Given the description of an element on the screen output the (x, y) to click on. 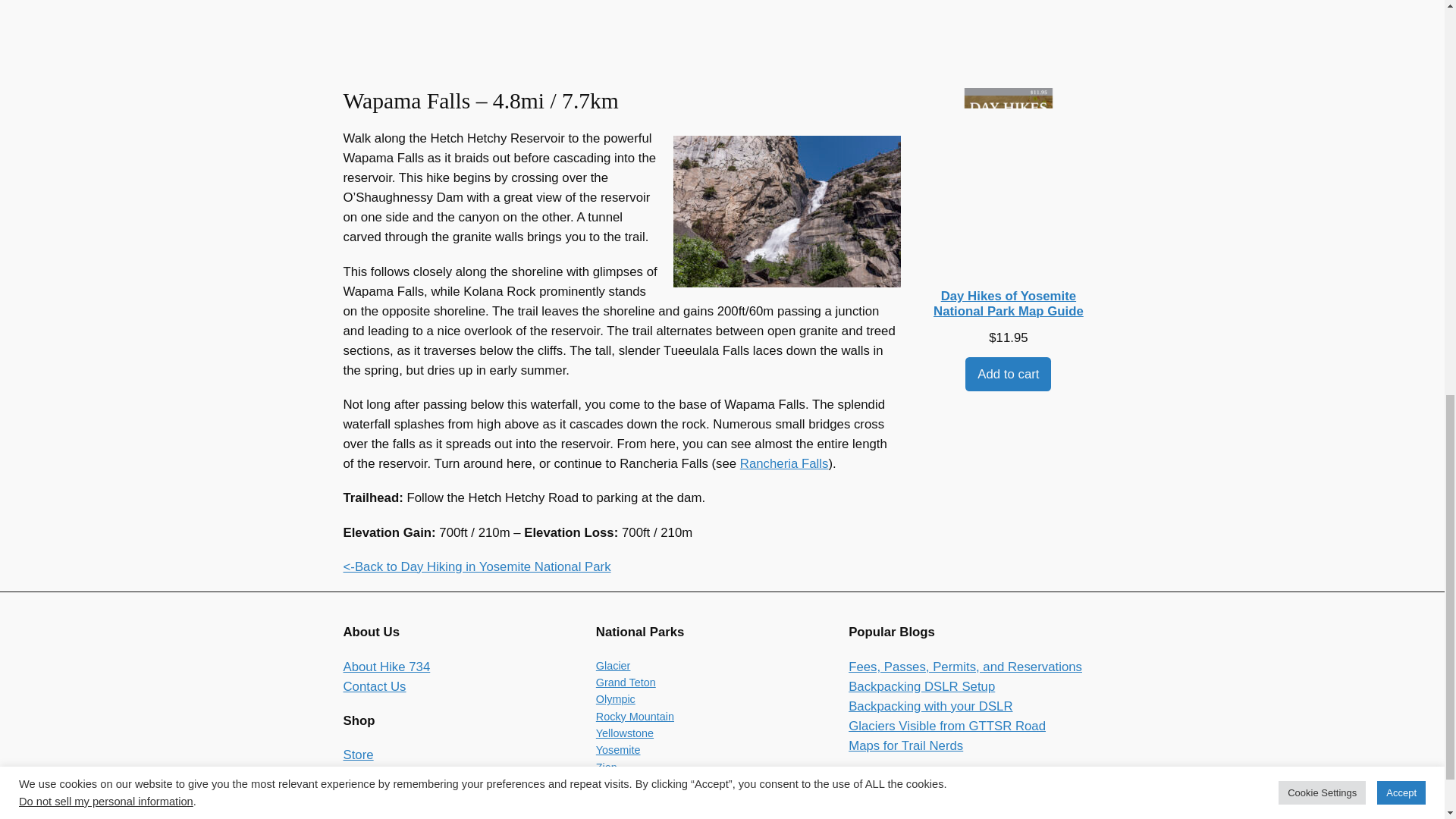
Yellowstone (624, 733)
About Hike 734 (385, 667)
Store (357, 754)
Yosemite (617, 749)
Add to cart (1008, 374)
Fees, Passes, Permits, and Reservations (964, 667)
Zion (606, 767)
Glacier (612, 665)
Day Hiking Yosemite National Park (476, 566)
Backpacking DSLR Setup (921, 686)
